Given the description of an element on the screen output the (x, y) to click on. 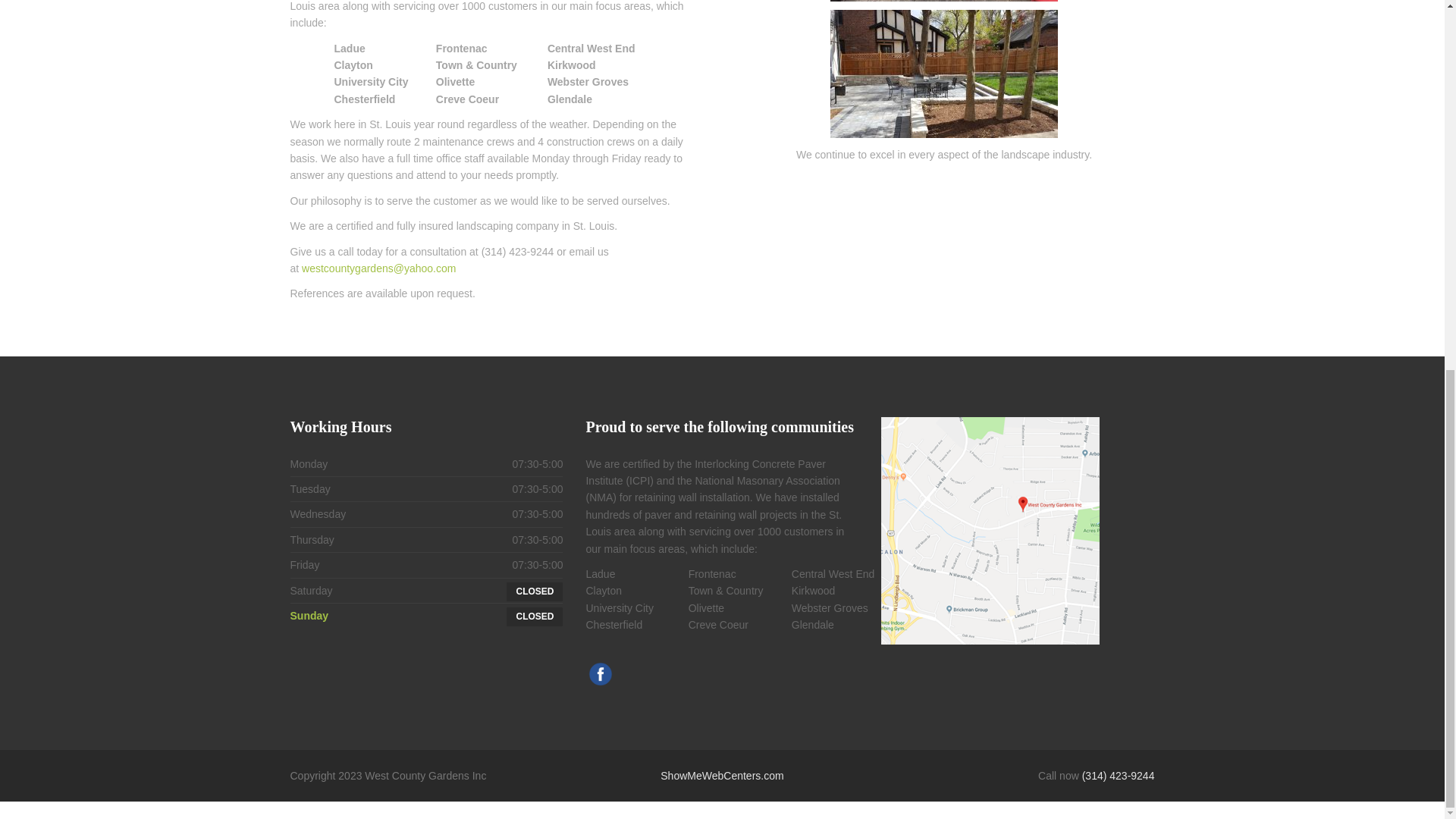
ShowMeWebCenters.com (722, 775)
